Given the description of an element on the screen output the (x, y) to click on. 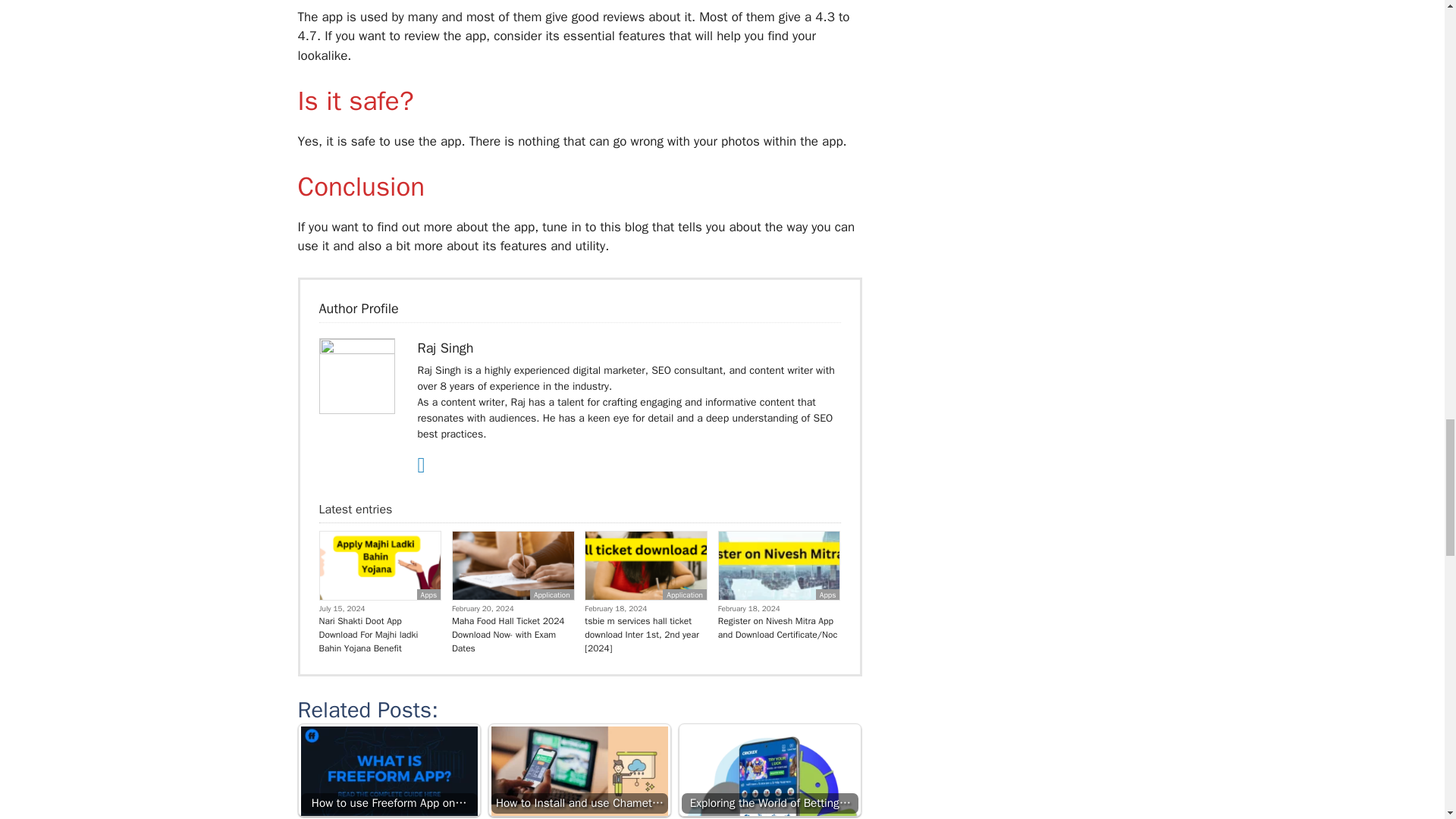
Exploring the World of Betting and Gaming with Crickex App (770, 772)
